Given the description of an element on the screen output the (x, y) to click on. 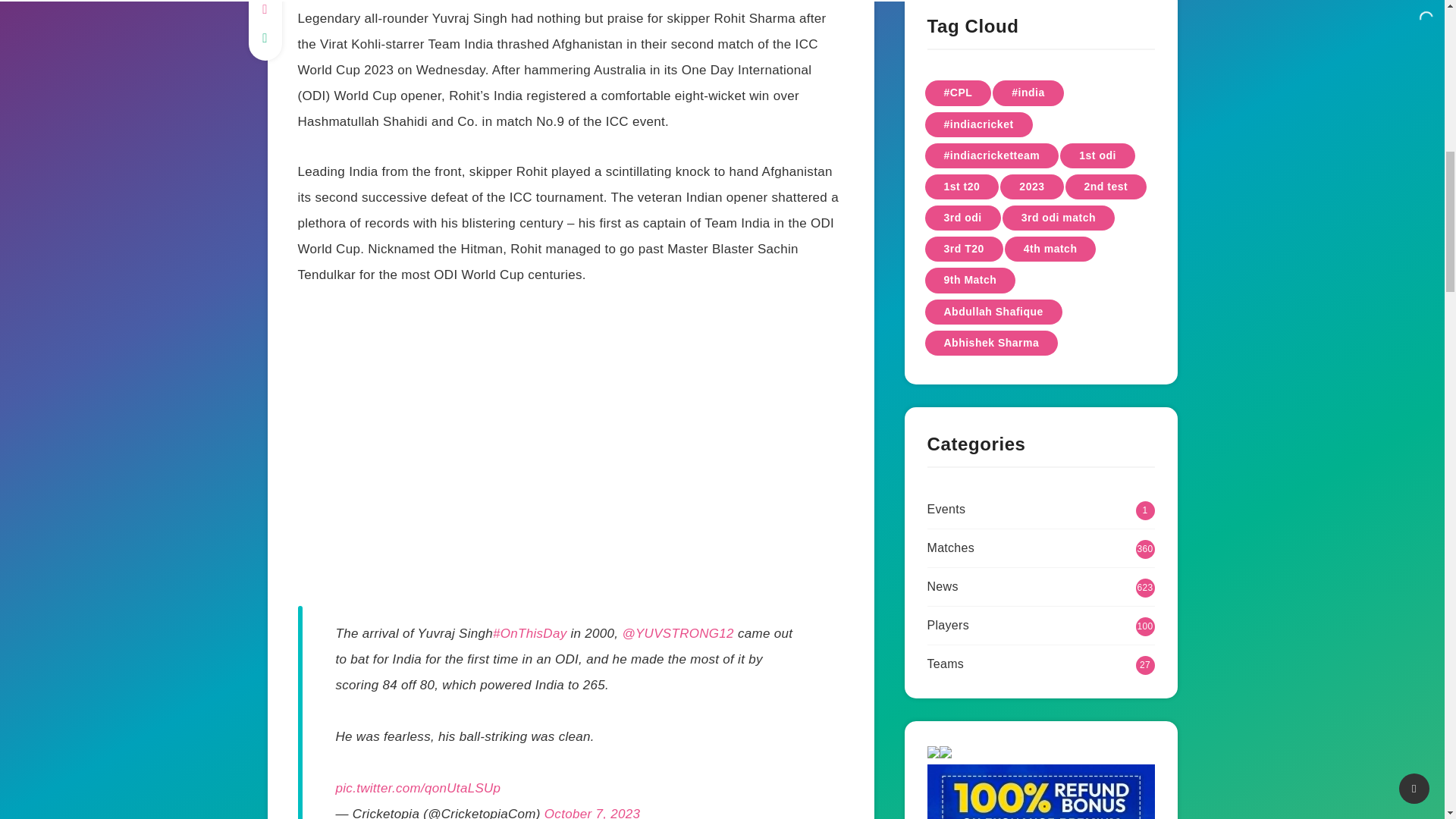
October 7, 2023 (592, 812)
